Given the description of an element on the screen output the (x, y) to click on. 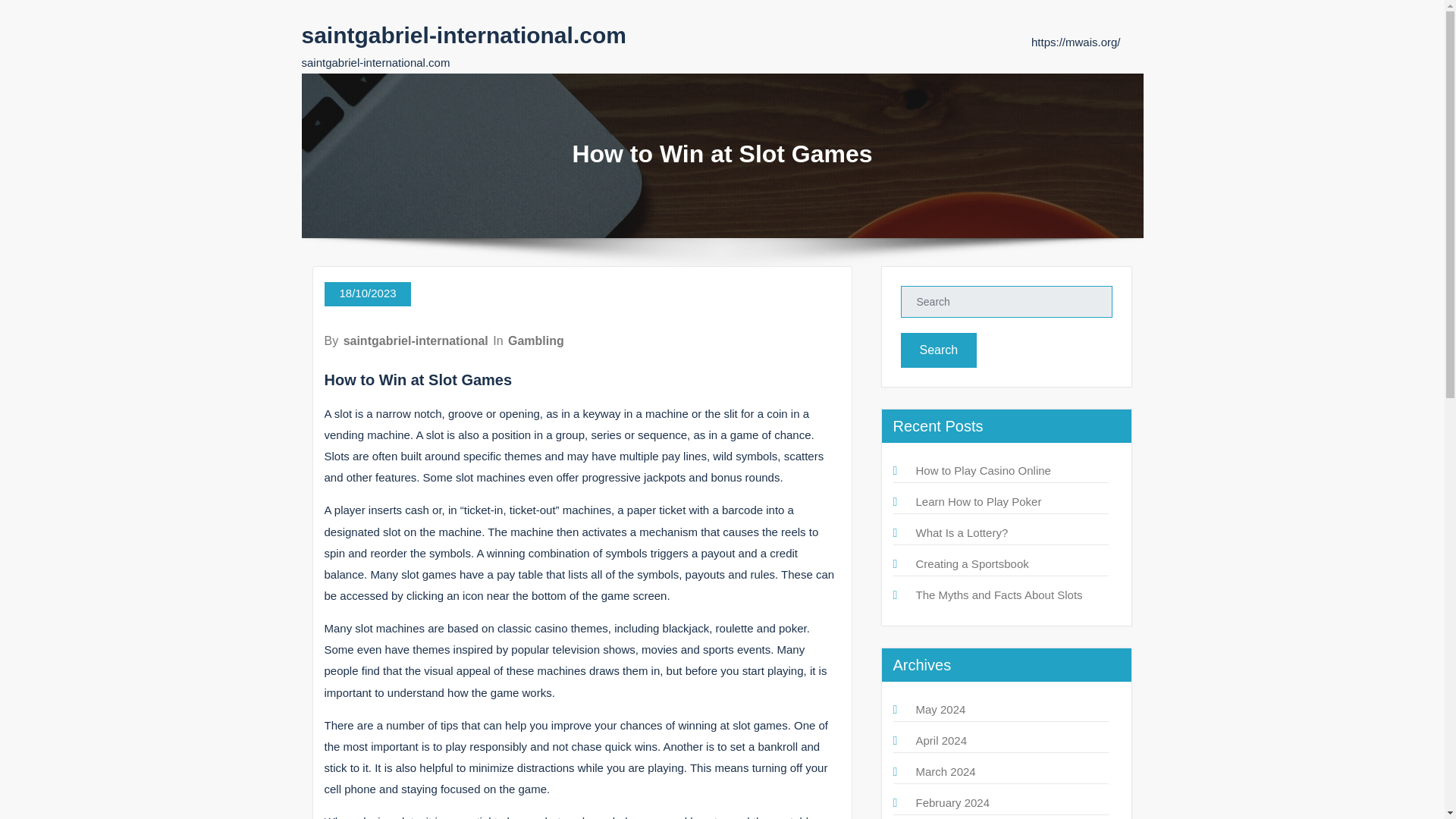
Creating a Sportsbook (972, 563)
What Is a Lottery? (962, 532)
Learn How to Play Poker (978, 501)
Search (938, 349)
How to Play Casino Online (983, 470)
February 2024 (952, 802)
May 2024 (940, 708)
saintgabriel-international.com (463, 34)
Gambling (536, 340)
saintgabriel-international (415, 340)
